Given the description of an element on the screen output the (x, y) to click on. 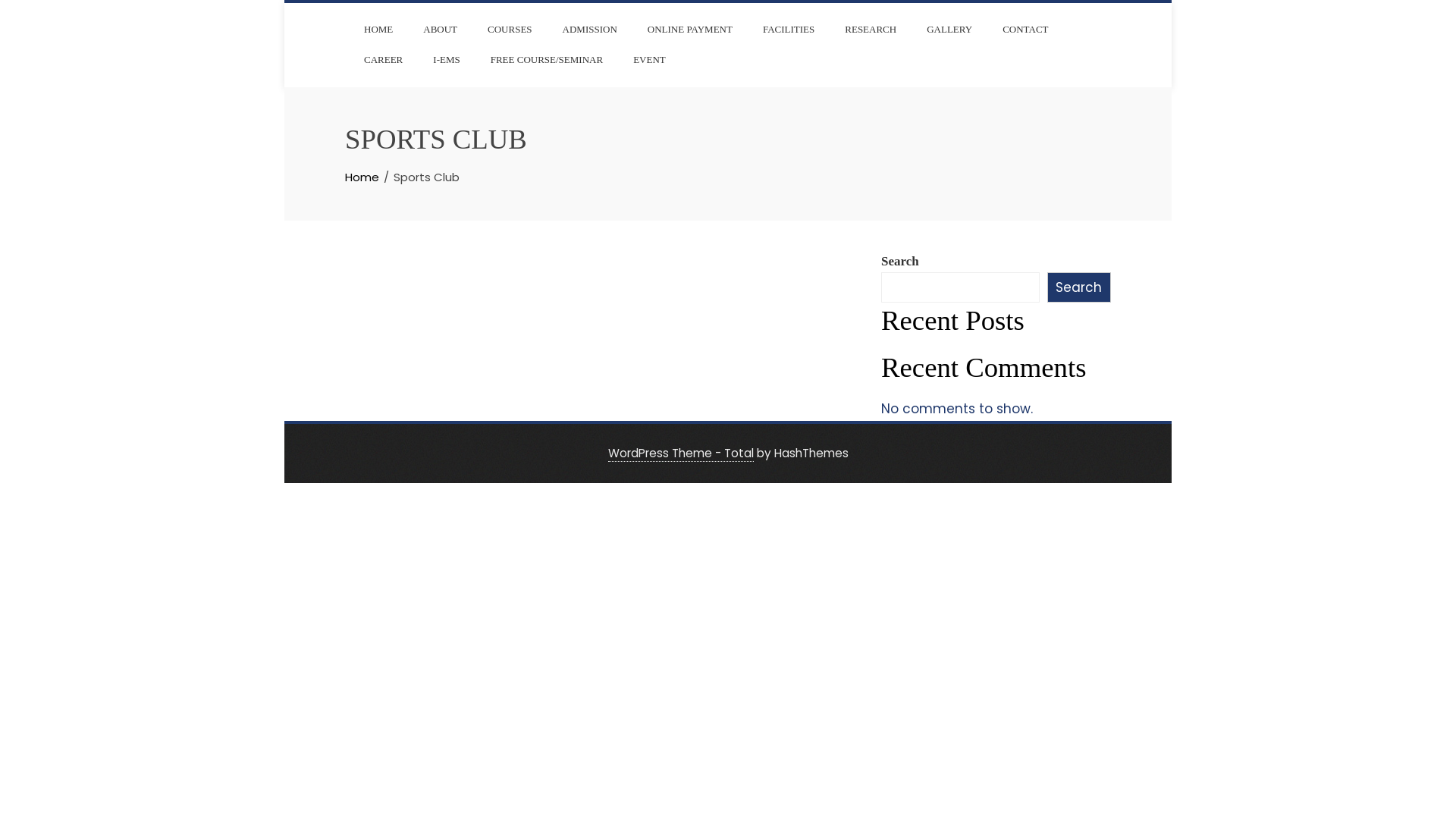
ONLINE PAYMENT Element type: text (689, 29)
ADMISSION Element type: text (589, 29)
CONTACT Element type: text (1025, 29)
CAREER Element type: text (383, 59)
ABOUT Element type: text (439, 29)
RESEARCH Element type: text (870, 29)
GALLERY Element type: text (949, 29)
Home Element type: text (362, 177)
COURSES Element type: text (509, 29)
I-EMS Element type: text (445, 59)
WordPress Theme - Total Element type: text (680, 453)
FREE COURSE/SEMINAR Element type: text (546, 59)
HOME Element type: text (378, 29)
FACILITIES Element type: text (788, 29)
Search Element type: text (1078, 287)
EVENT Element type: text (649, 59)
